Given the description of an element on the screen output the (x, y) to click on. 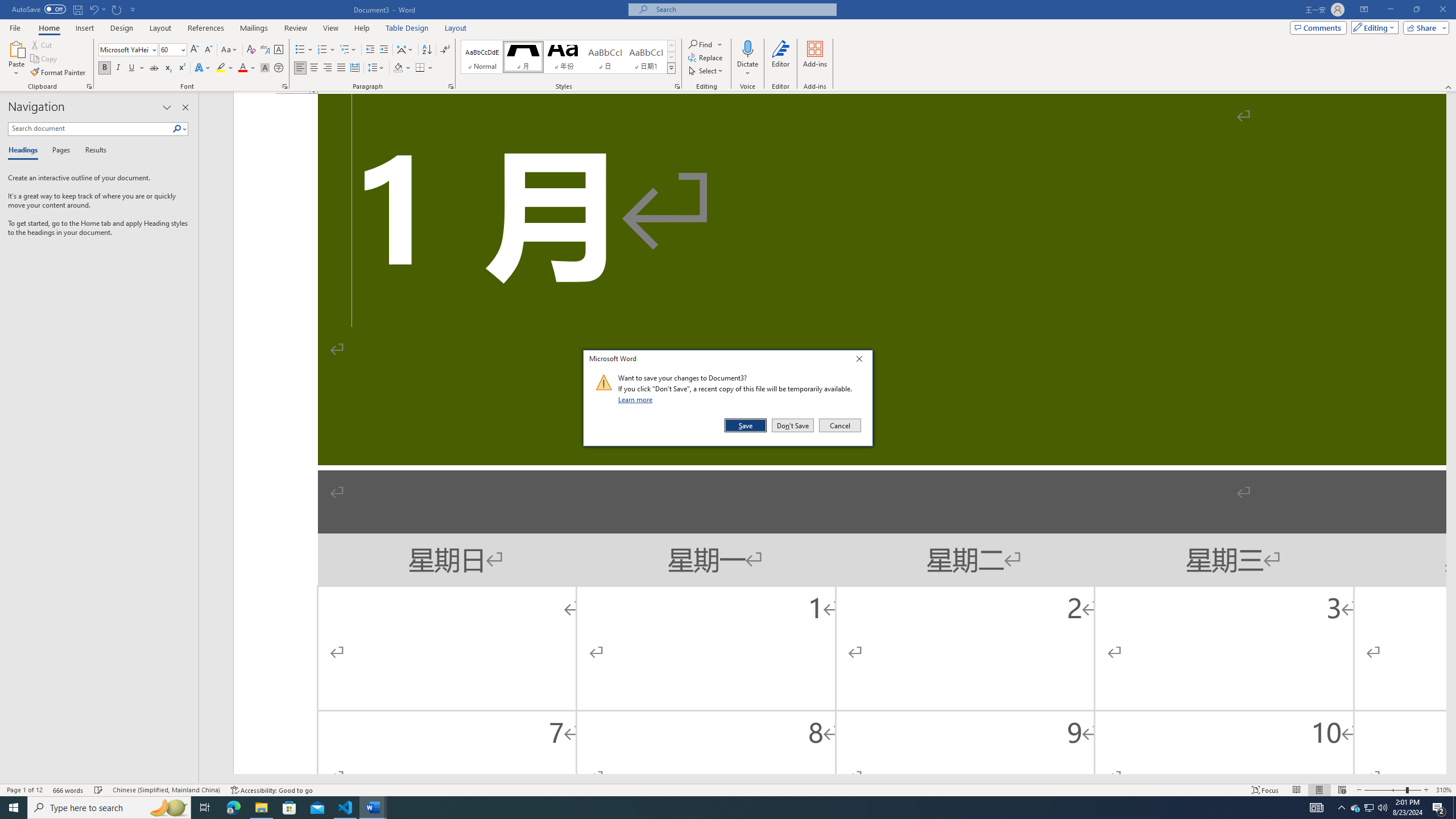
Q2790: 100% (1382, 807)
Headings (25, 150)
Row up (670, 45)
Cut (42, 44)
Microsoft Store (289, 807)
Repeat Increase Indent (117, 9)
Header -Section 1- (838, 92)
Search highlights icon opens search home window (167, 807)
Character Border (278, 49)
Shrink Font (208, 49)
Font Color (246, 67)
